Given the description of an element on the screen output the (x, y) to click on. 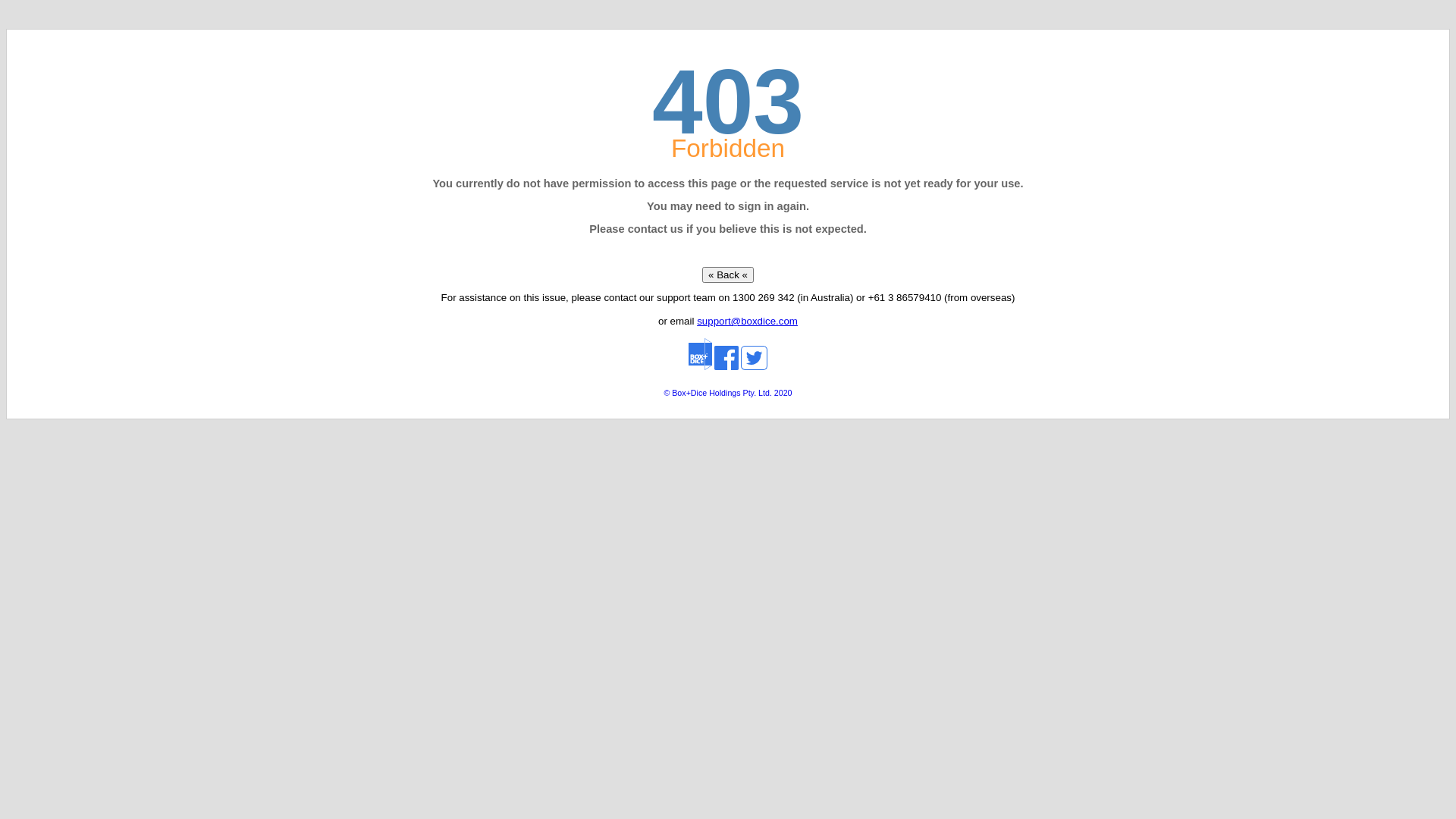
support@boxdice.com Element type: text (746, 320)
